Given the description of an element on the screen output the (x, y) to click on. 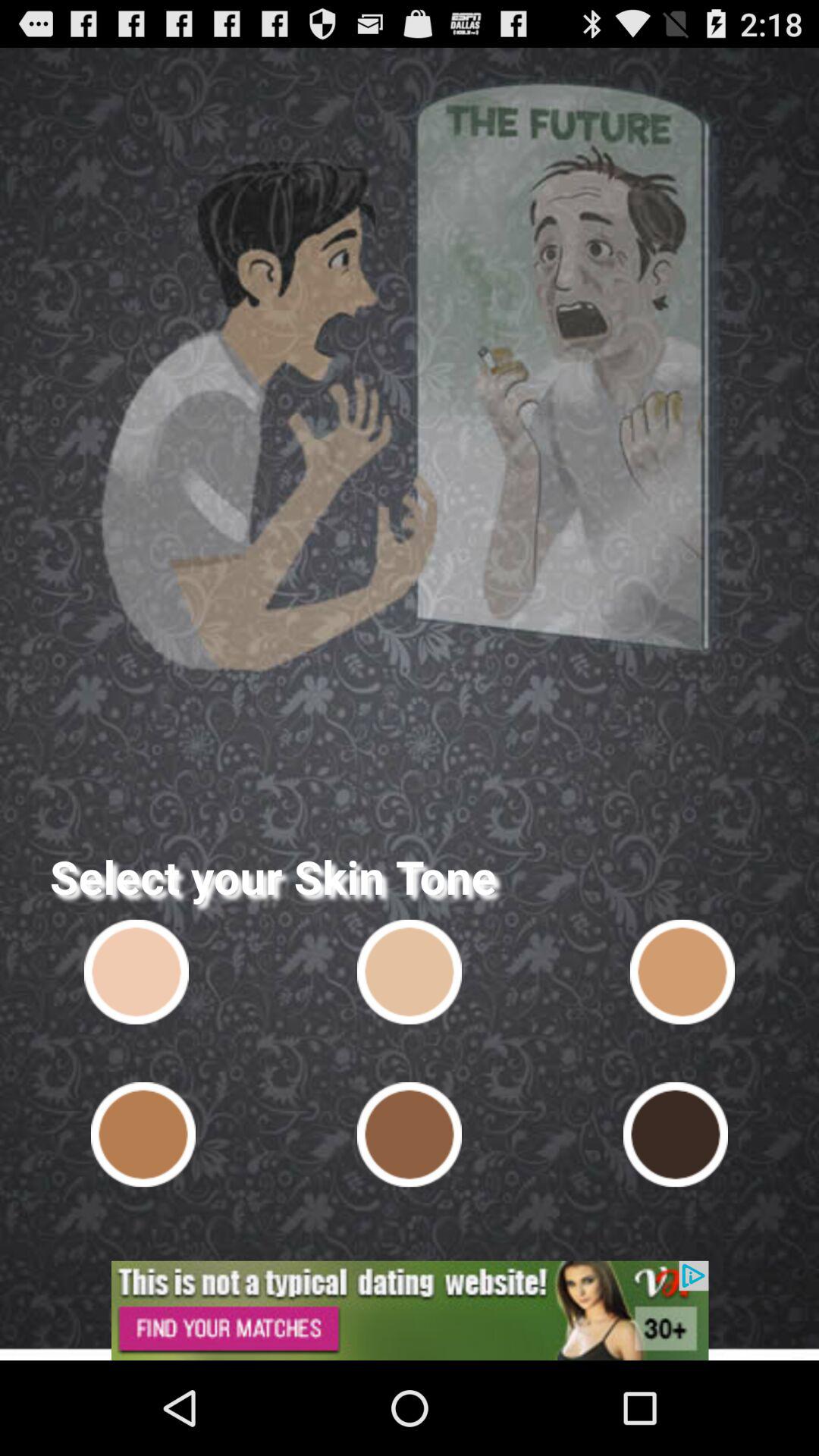
open an advertisement (409, 1310)
